Given the description of an element on the screen output the (x, y) to click on. 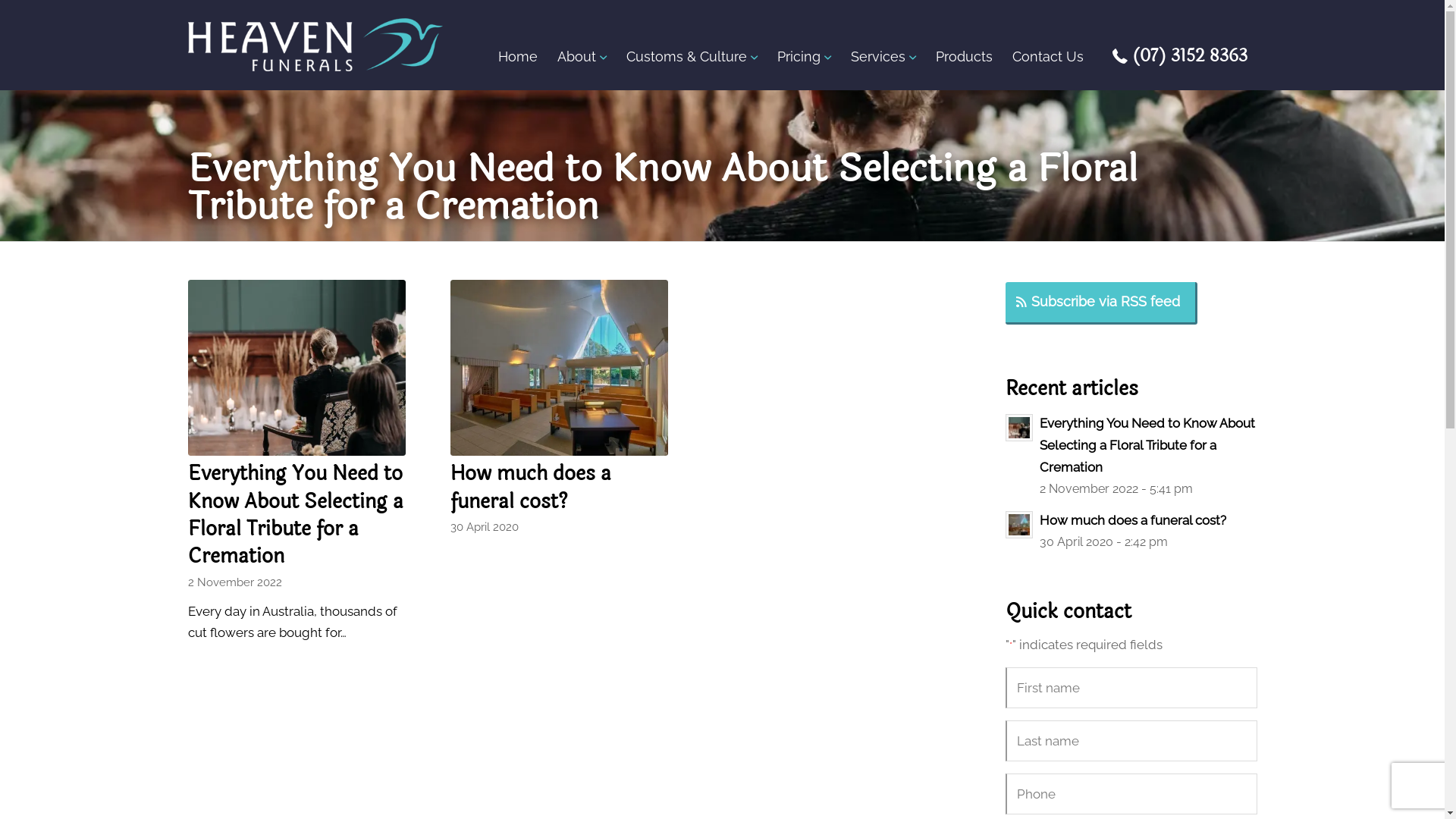
How much does a funeral cost?
30 April 2020 - 2:42 pm Element type: text (1131, 530)
About Element type: text (581, 55)
Subscribe via RSS feed Element type: text (1101, 303)
Home Element type: text (517, 55)
(07) 3152 8363 Element type: text (1179, 55)
Customs & Culture Element type: text (690, 55)
How much does a funeral cost? Element type: text (530, 487)
Pricing Element type: text (803, 55)
How much does a funeral cost? Element type: hover (559, 367)
Contact Us Element type: text (1047, 55)
Services Element type: text (882, 55)
Products Element type: text (963, 55)
